Given the description of an element on the screen output the (x, y) to click on. 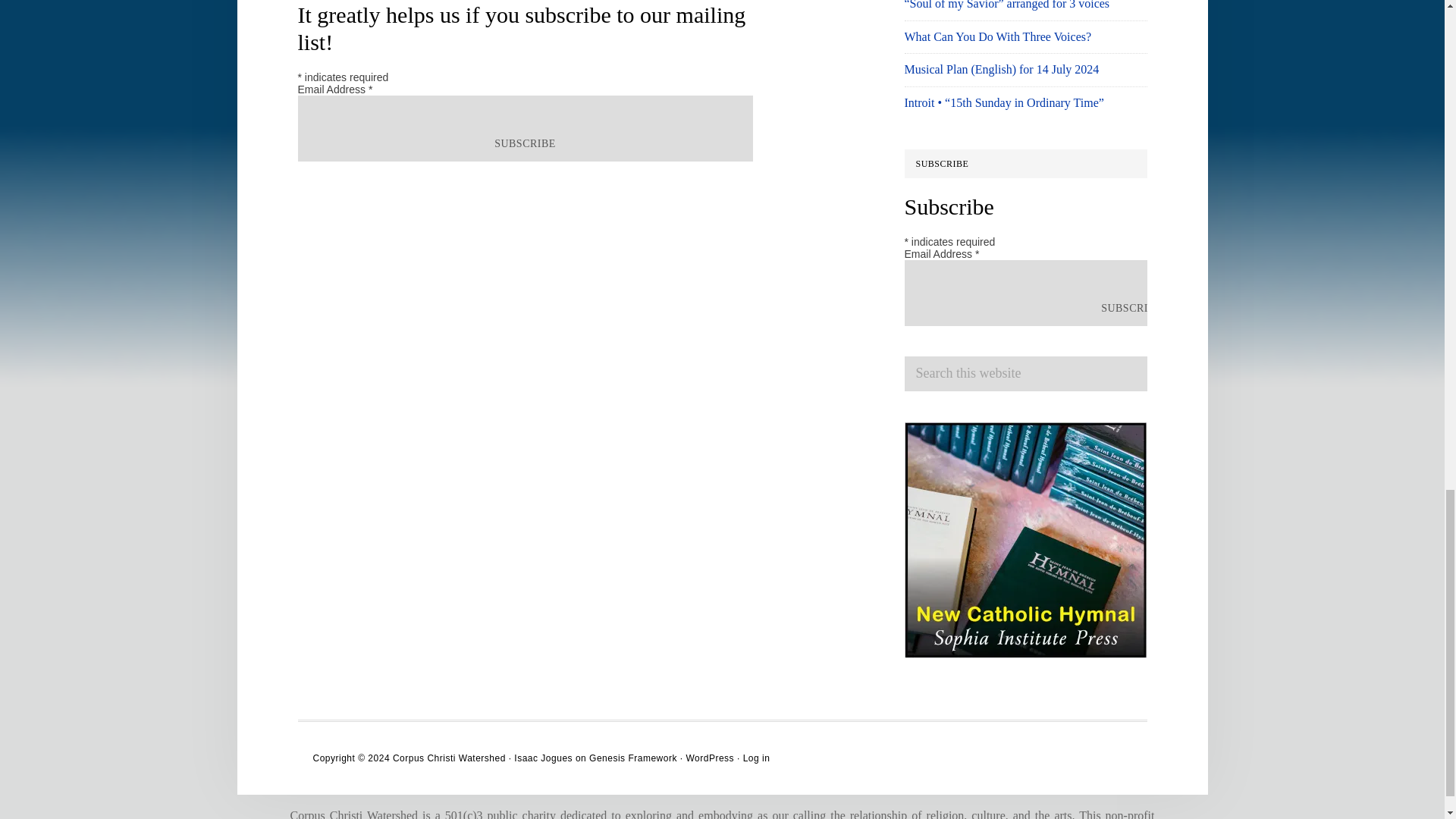
Subscribe (1131, 308)
Subscribe (524, 143)
